Given the description of an element on the screen output the (x, y) to click on. 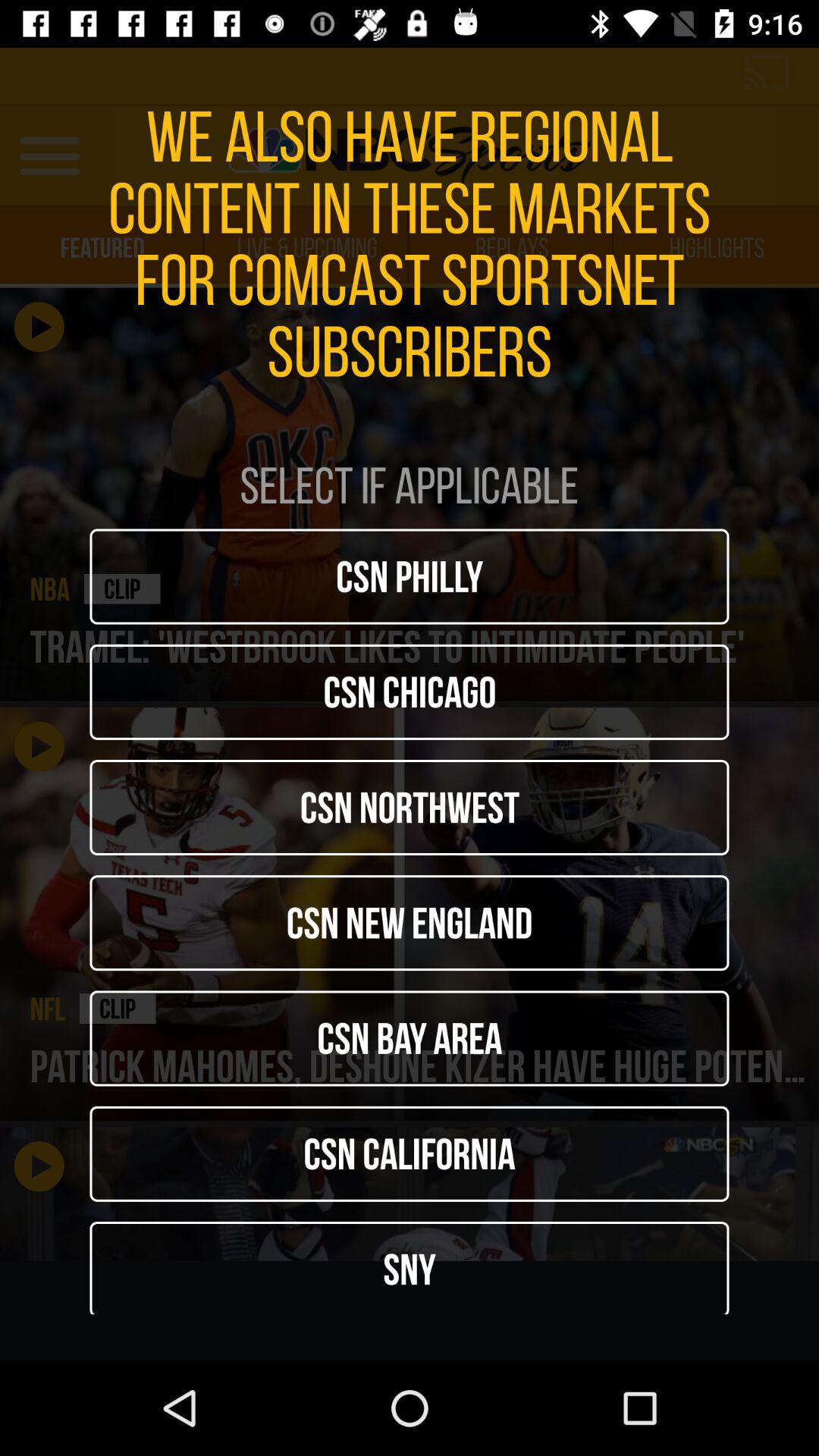
press the icon above csn new england item (409, 807)
